Given the description of an element on the screen output the (x, y) to click on. 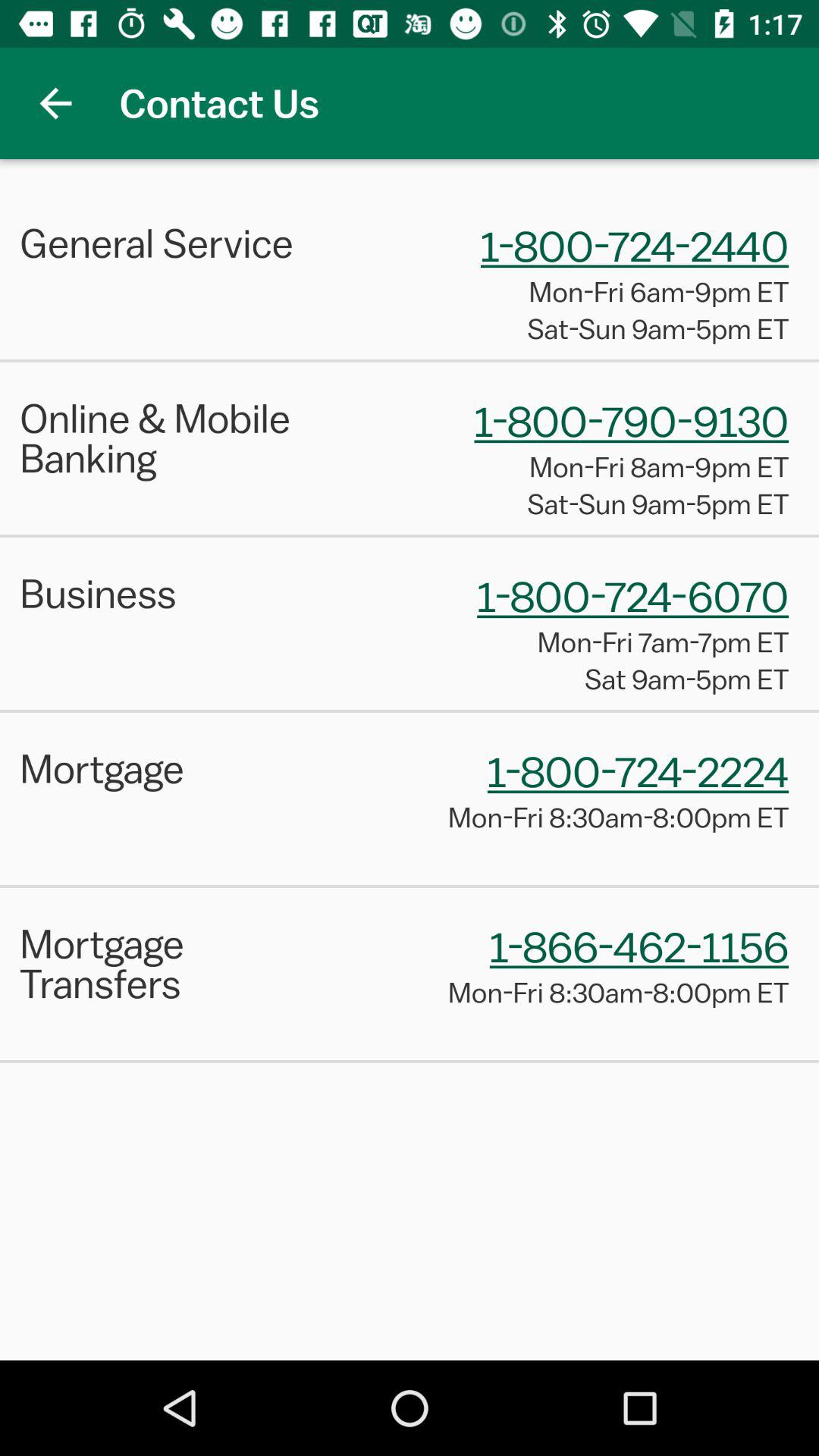
choose icon to the right of the mortgage transfers item (638, 945)
